Given the description of an element on the screen output the (x, y) to click on. 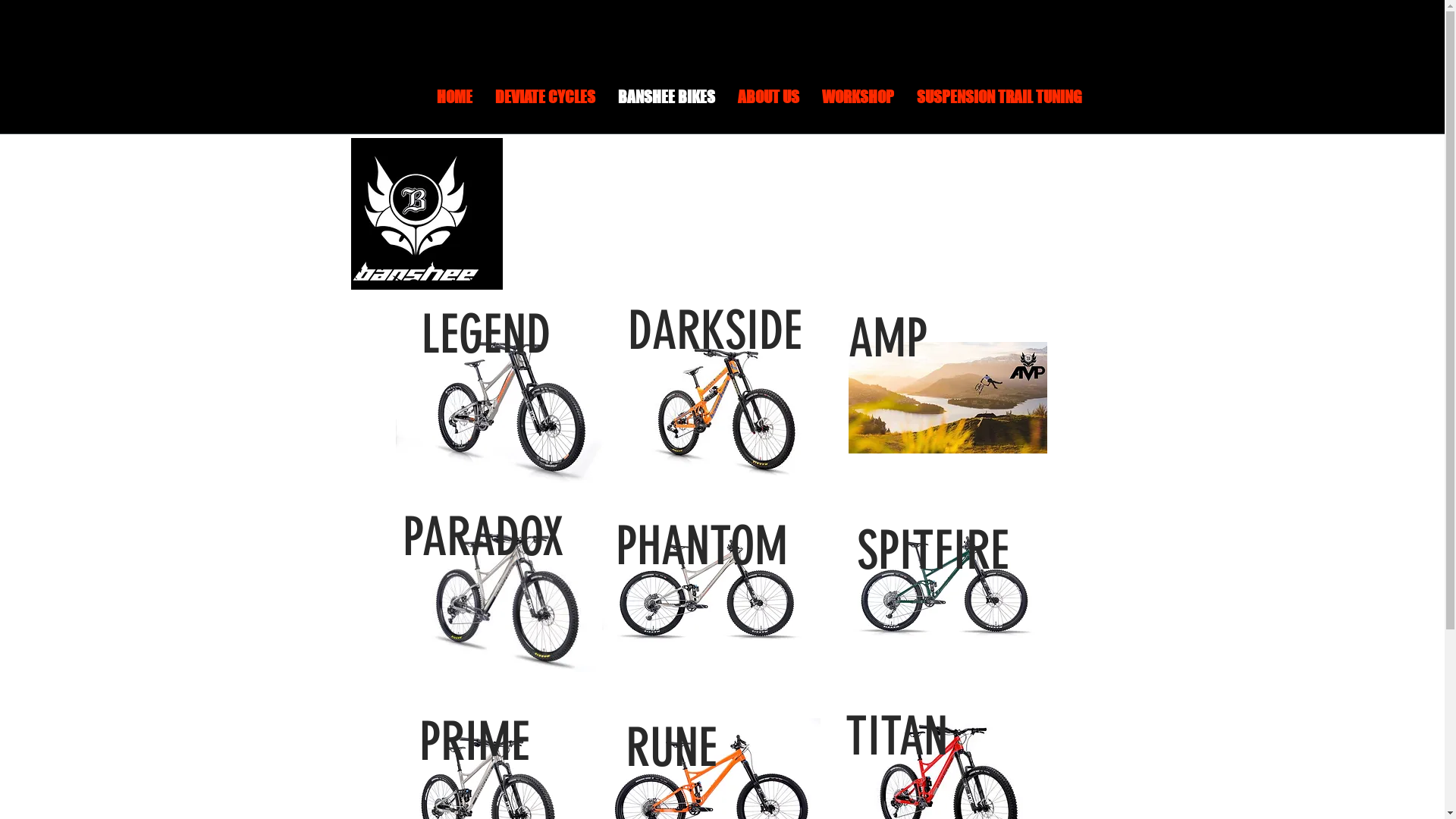
SUSPENSION TRAIL TUNING Element type: text (999, 106)
HOME Element type: text (453, 106)
BANSHEE BIKES Element type: text (666, 106)
WORKSHOP Element type: text (856, 106)
DEVIATE CYCLES Element type: text (544, 106)
ABOUT US Element type: text (768, 106)
